Given the description of an element on the screen output the (x, y) to click on. 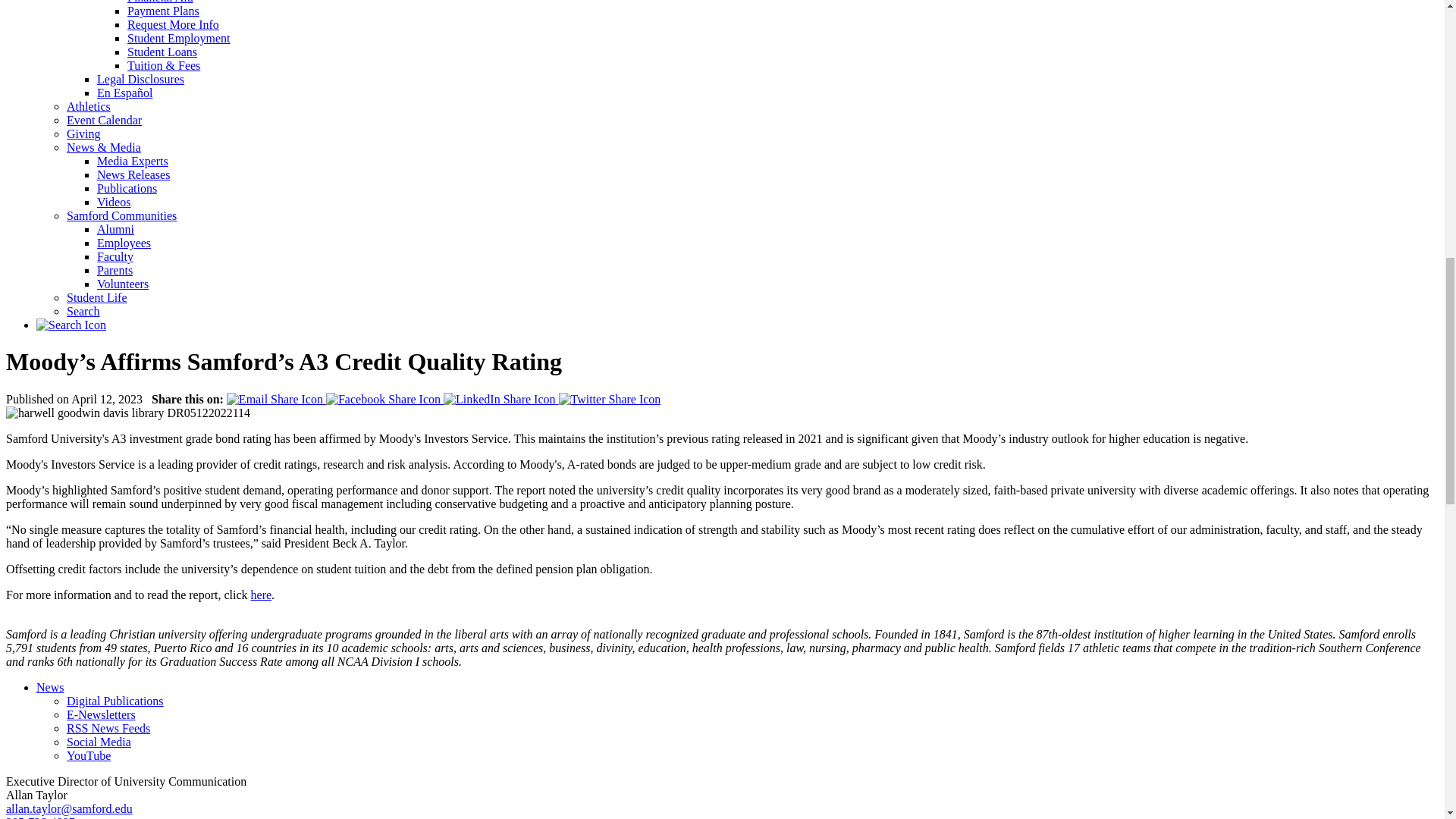
Graduate student loans. (162, 51)
Graduate financial aid. (160, 2)
Graduate payment plans. (163, 10)
Request more info about graduate programs. (173, 24)
Graduate student employment. (179, 38)
Graduate tuition and fees. (164, 65)
